Given the description of an element on the screen output the (x, y) to click on. 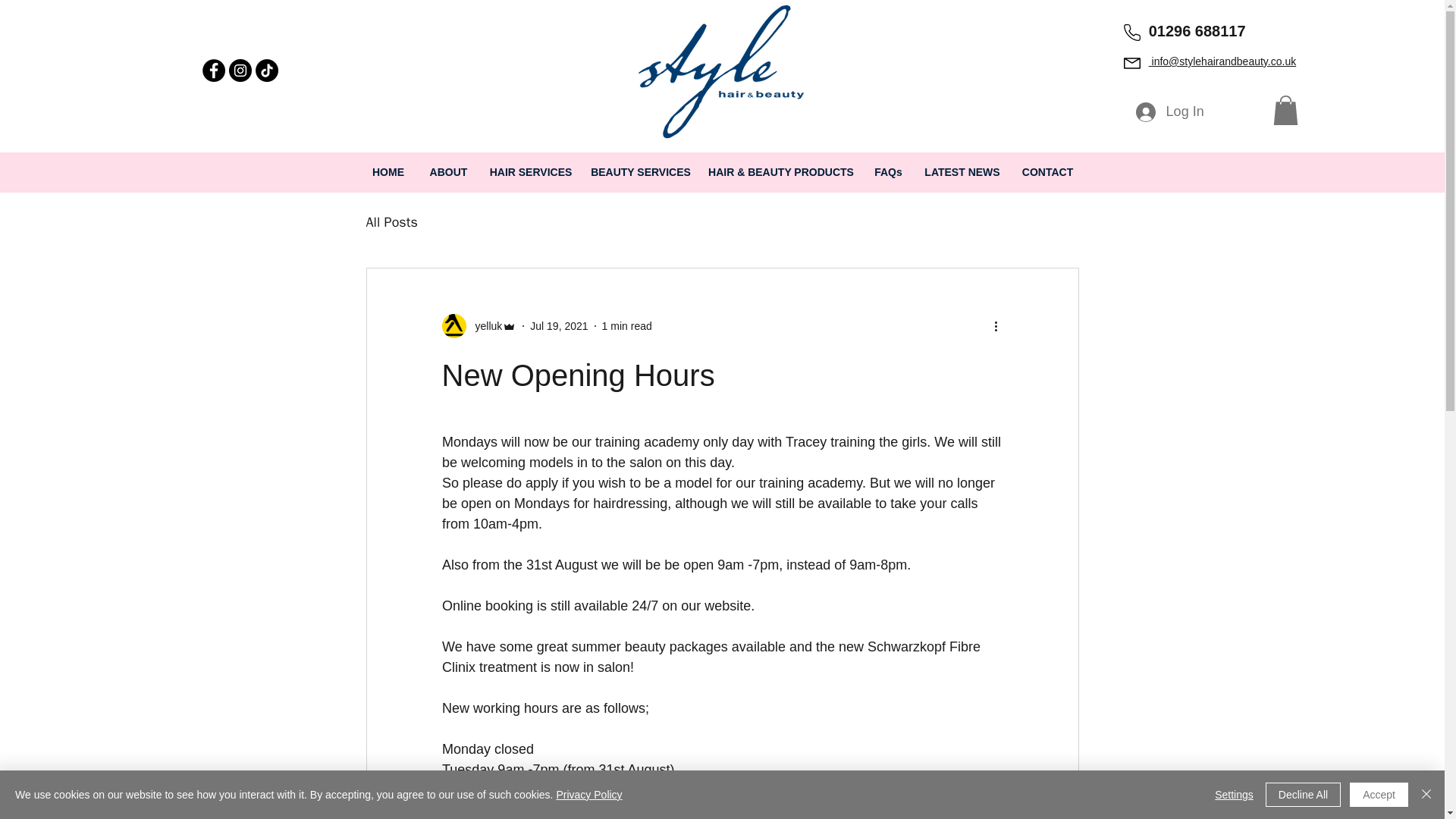
Log In (1169, 111)
01296 688117 (1197, 30)
HOME (388, 171)
FAQs (888, 171)
CONTACT (1047, 171)
yelluk (478, 325)
yelluk (483, 326)
1 min read (627, 326)
LATEST NEWS (962, 171)
ABOUT (447, 171)
Jul 19, 2021 (558, 326)
All Posts (390, 221)
